Given the description of an element on the screen output the (x, y) to click on. 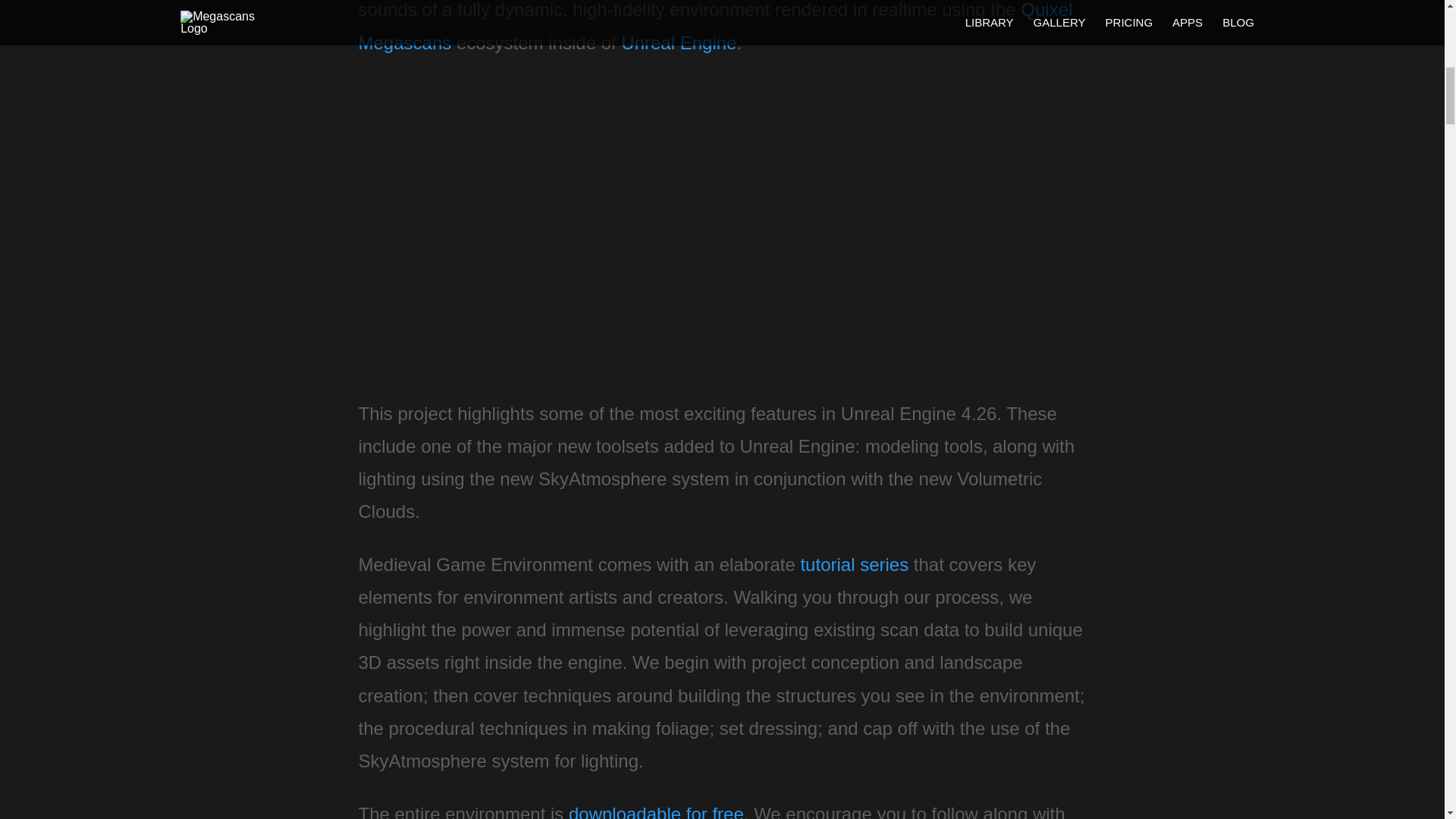
Quixel Megascans (714, 26)
downloadable for free (656, 811)
tutorial series (853, 564)
Unreal Engine (678, 41)
